Given the description of an element on the screen output the (x, y) to click on. 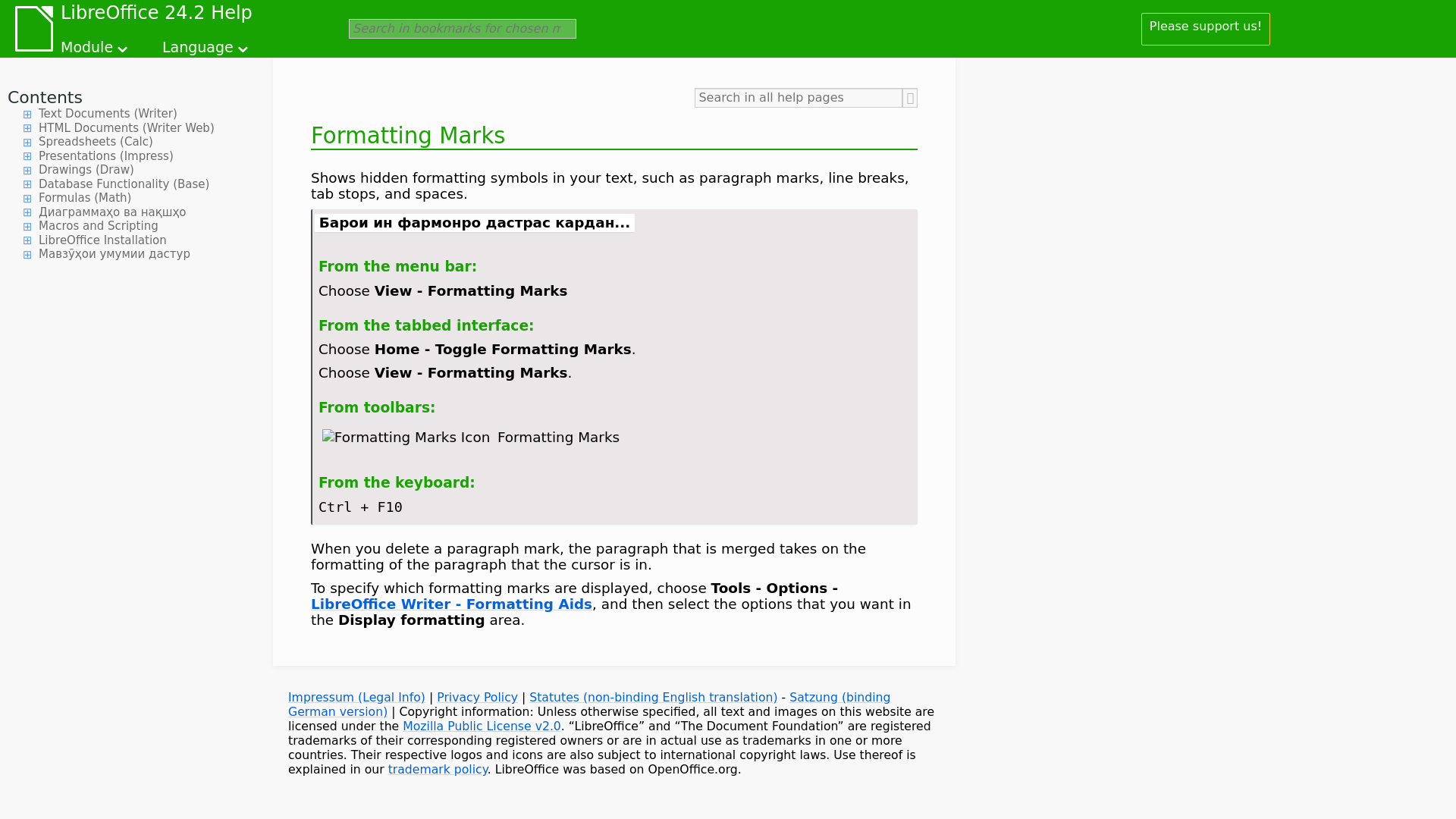
Language (206, 44)
LibreOffice 24.2 Help (156, 15)
Module (96, 44)
